Given the description of an element on the screen output the (x, y) to click on. 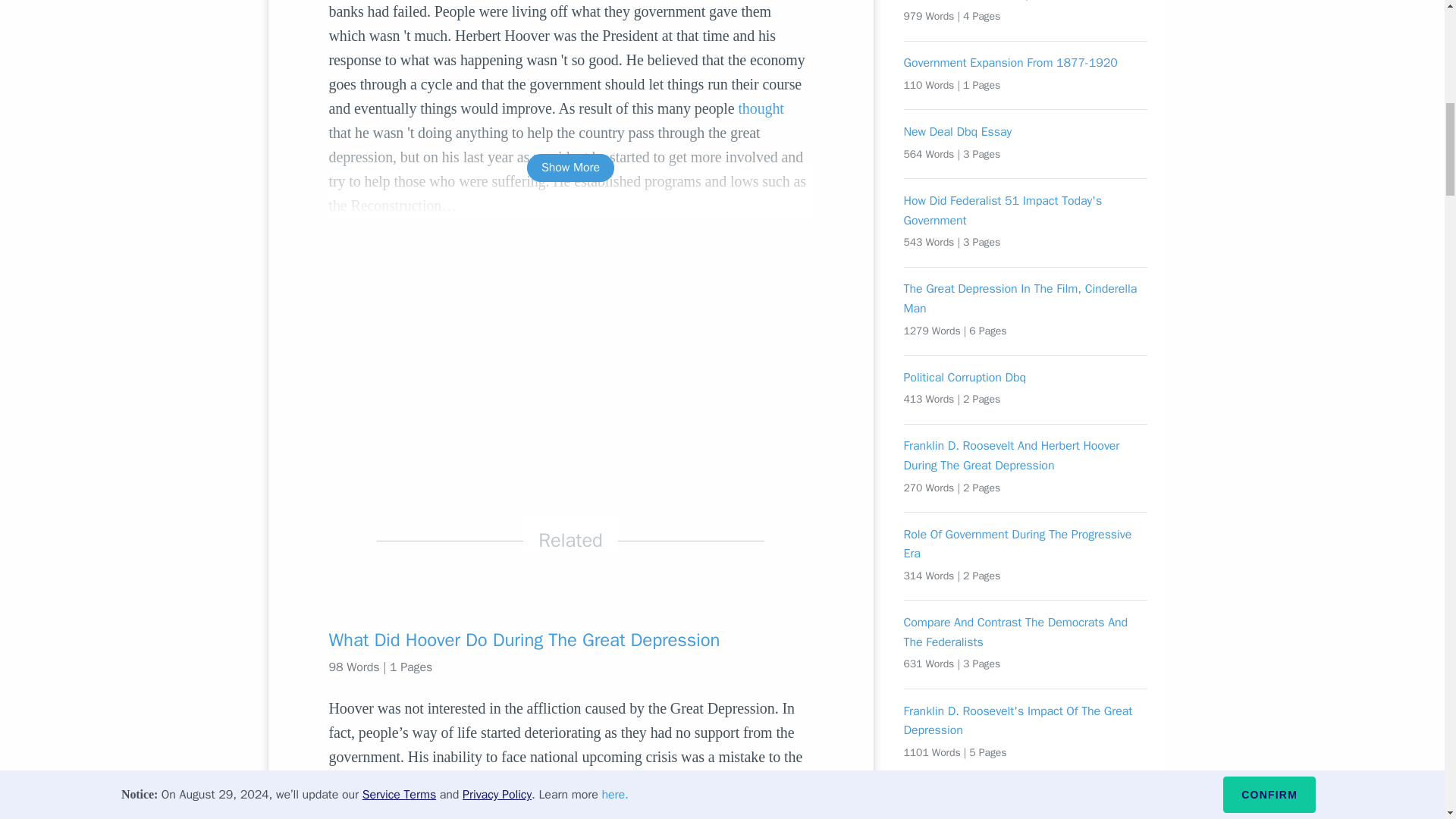
thought (760, 108)
Show More (570, 167)
What Did Hoover Do During The Great Depression (570, 639)
